Given the description of an element on the screen output the (x, y) to click on. 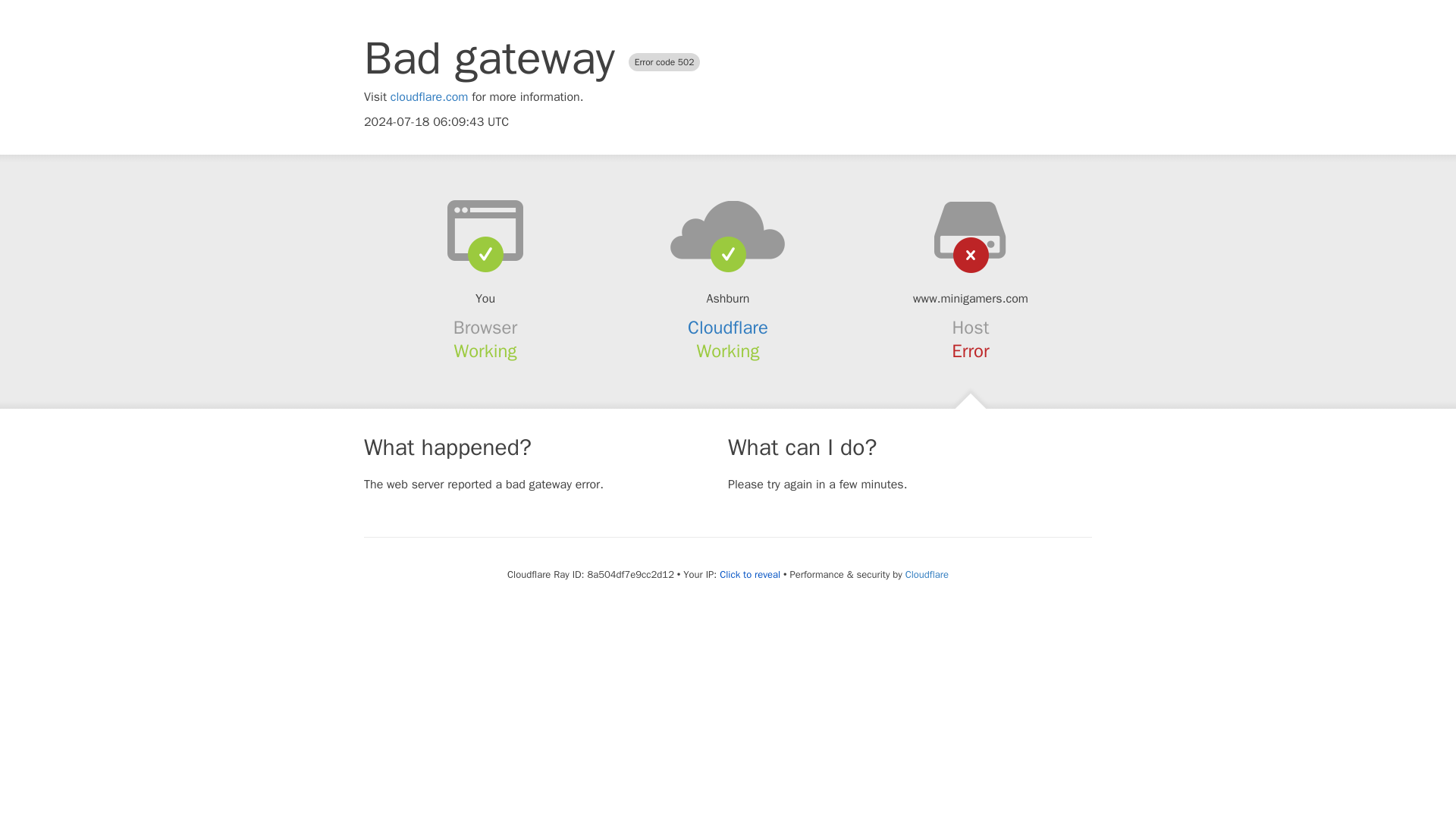
cloudflare.com (429, 96)
Cloudflare (727, 327)
Click to reveal (749, 574)
Cloudflare (927, 574)
